Given the description of an element on the screen output the (x, y) to click on. 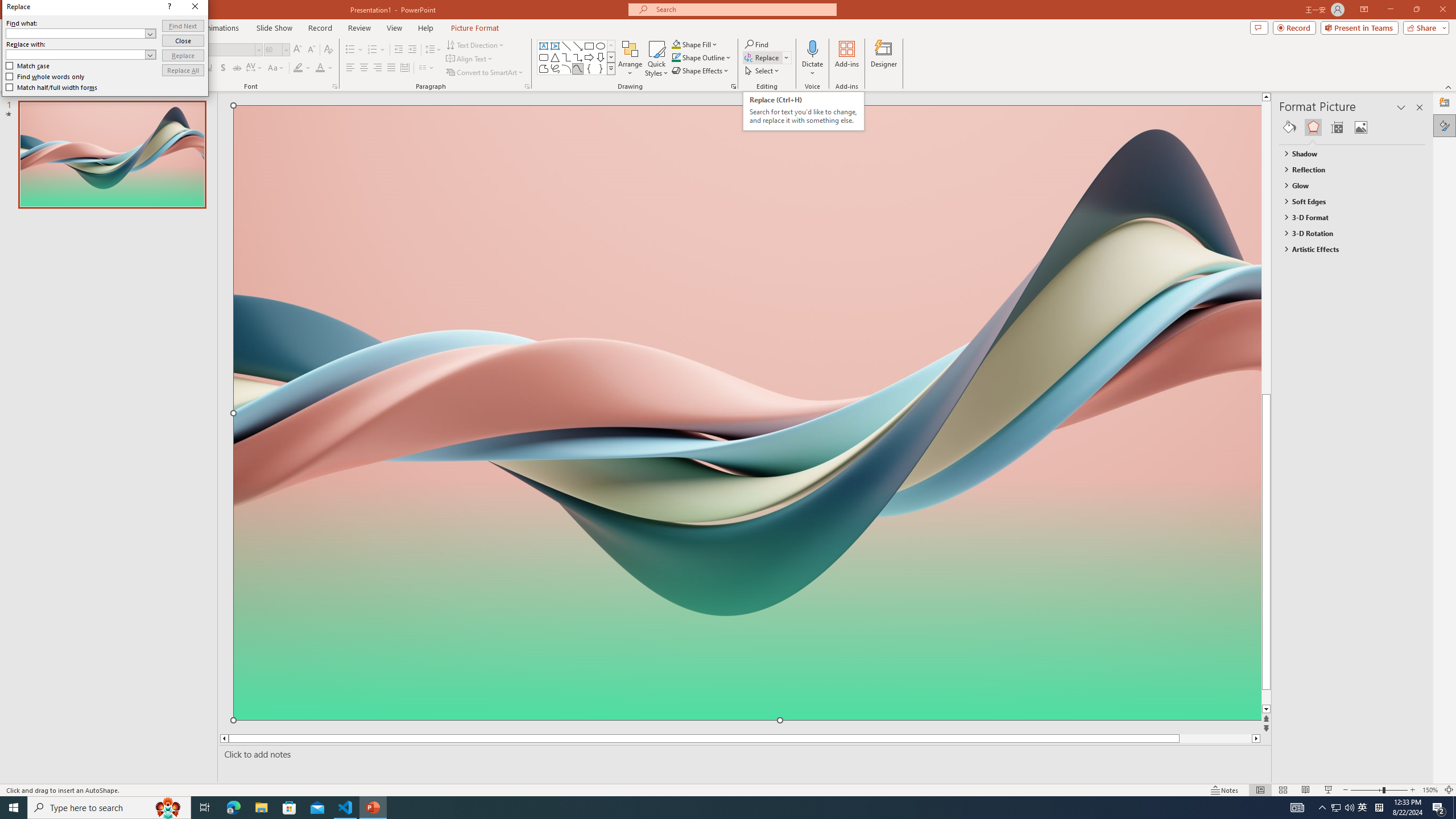
Rectangle: Rounded Corners (543, 57)
Strikethrough (237, 67)
Text Highlight Color (302, 67)
Effects (1313, 126)
Task Pane Options (1400, 107)
Slide (111, 154)
AutomationID: 4105 (1297, 807)
Convert to SmartArt (485, 72)
Task View (204, 807)
Line Arrow (577, 45)
Find Next (183, 25)
Font Size (273, 49)
Text Direction (476, 44)
Ribbon Display Options (1364, 9)
File Explorer (261, 807)
